Given the description of an element on the screen output the (x, y) to click on. 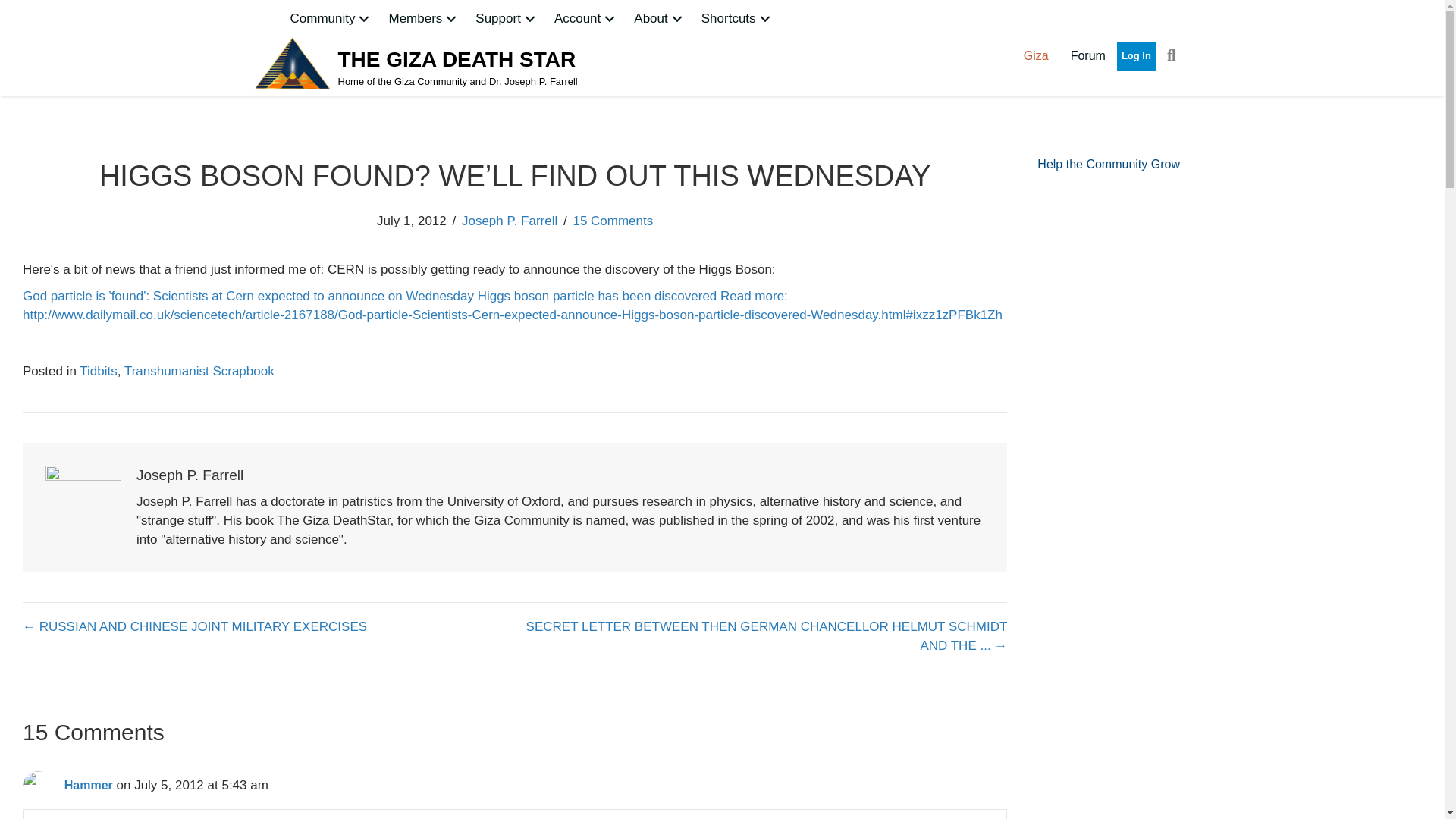
Account (586, 19)
Community (331, 19)
About (659, 19)
Support (507, 19)
Members (423, 19)
